Given the description of an element on the screen output the (x, y) to click on. 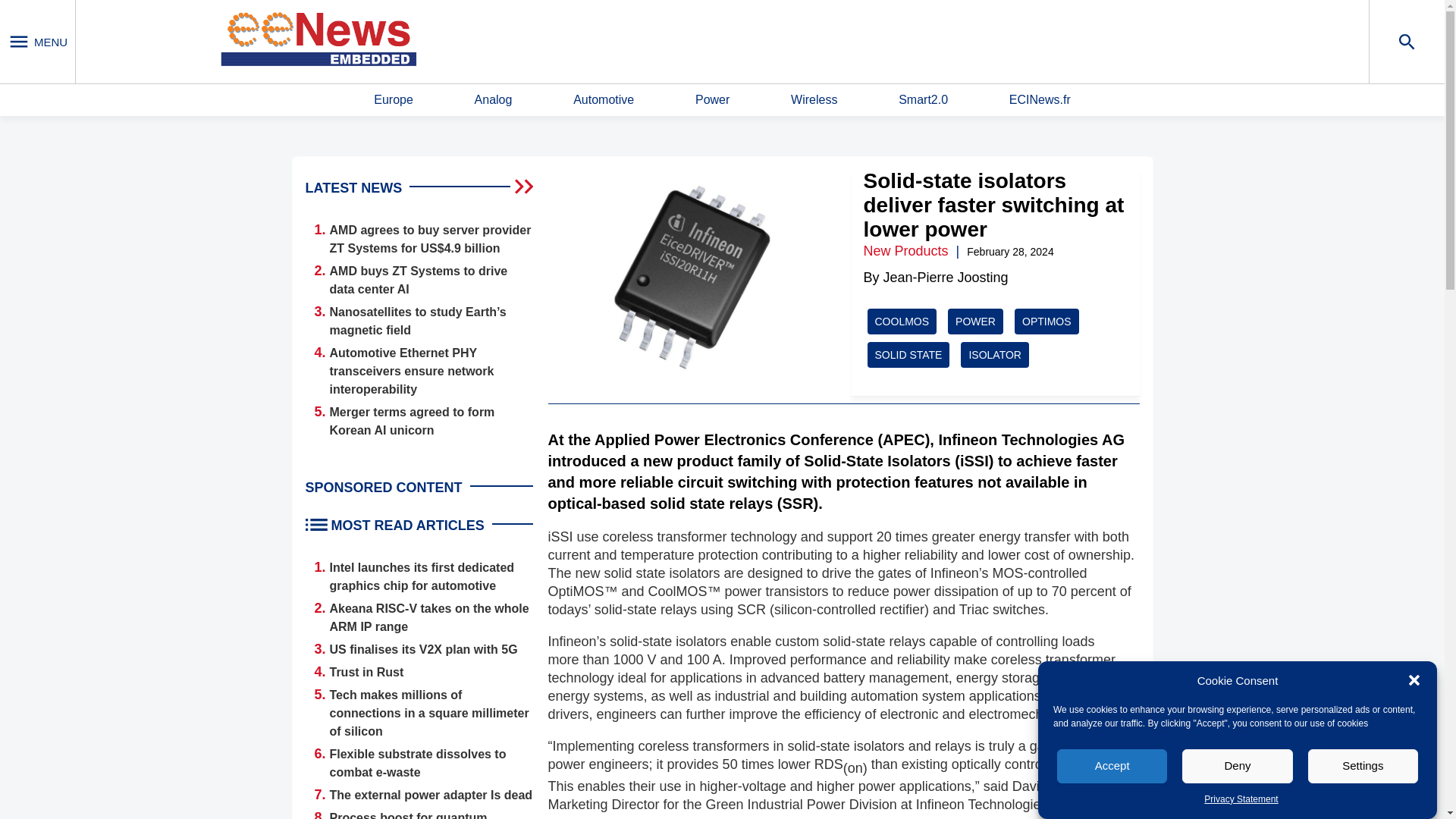
ECINews.fr (1039, 99)
Europe (393, 99)
Smart2.0 (922, 99)
Automotive (603, 99)
Analog (493, 99)
Power (712, 99)
Wireless (813, 99)
